Given the description of an element on the screen output the (x, y) to click on. 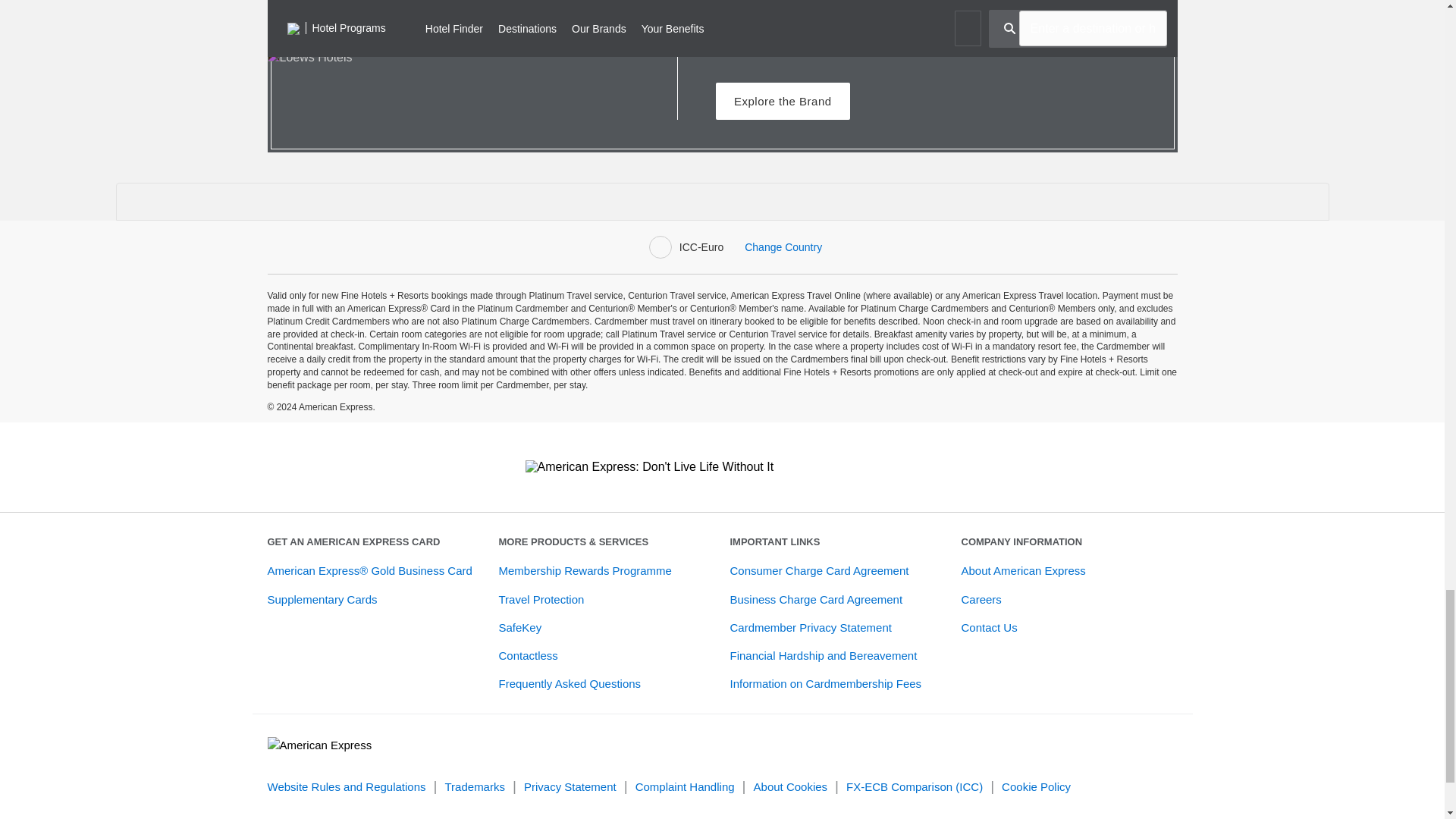
Careers (980, 599)
About American Express (1023, 570)
Contactless (528, 655)
Supplementary Cards (321, 599)
Charge Card Agreement (818, 570)
Membership Rewards Programme (585, 570)
Information on Cardmembership Fees (825, 683)
Financial Hardship and Bereavement (823, 655)
Travel Protection (542, 599)
Business Charge Card Agreement (815, 599)
Frequently Asked Questions (570, 683)
SafeKey (520, 626)
Cardmember Privacy Statement (810, 626)
Contact Us (988, 626)
